Given the description of an element on the screen output the (x, y) to click on. 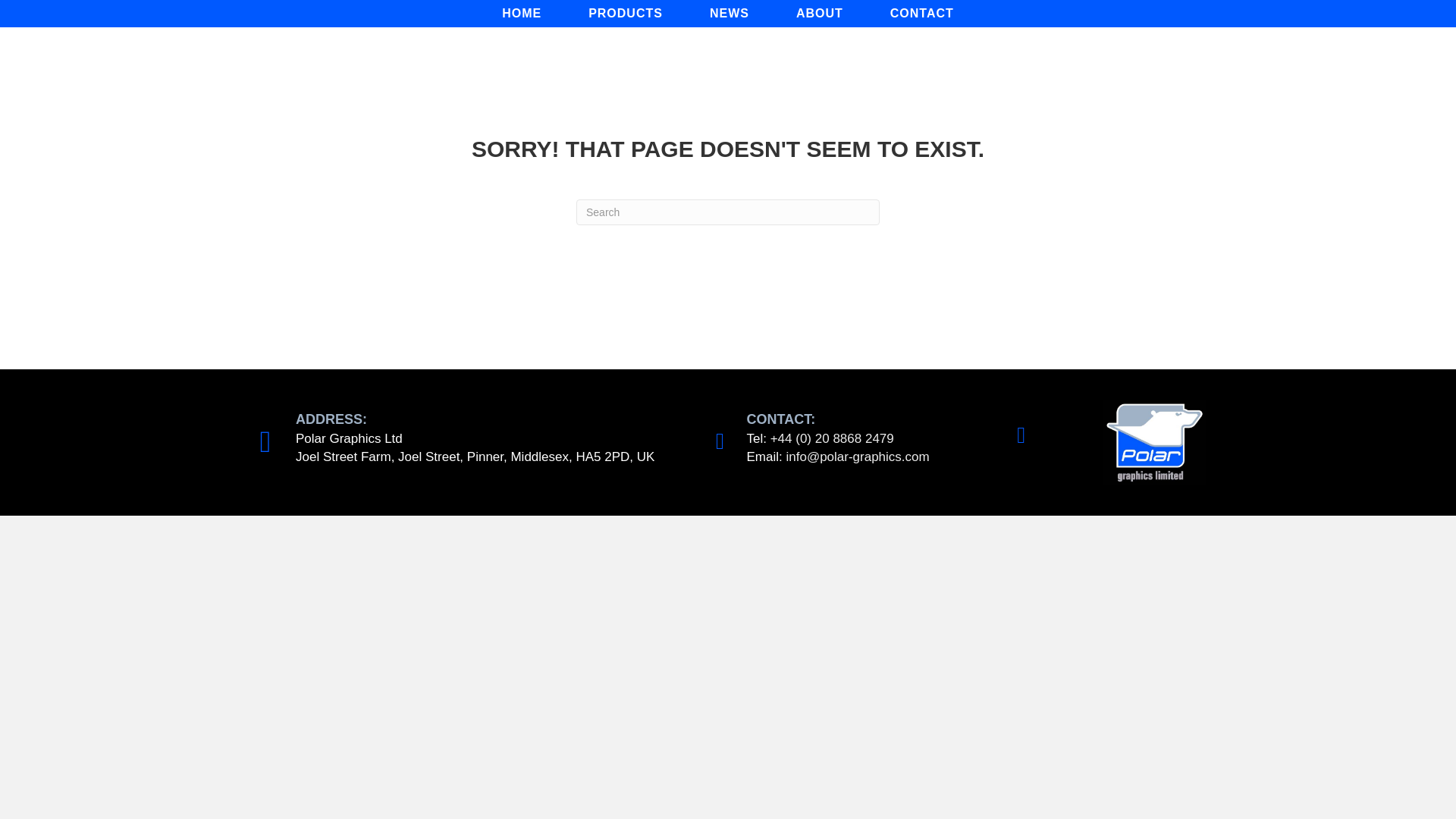
ABOUT (819, 13)
Polar Logo (1153, 442)
Type and press Enter to search. (727, 212)
PRODUCTS (625, 13)
CONTACT (921, 13)
HOME (521, 13)
NEWS (729, 13)
